Given the description of an element on the screen output the (x, y) to click on. 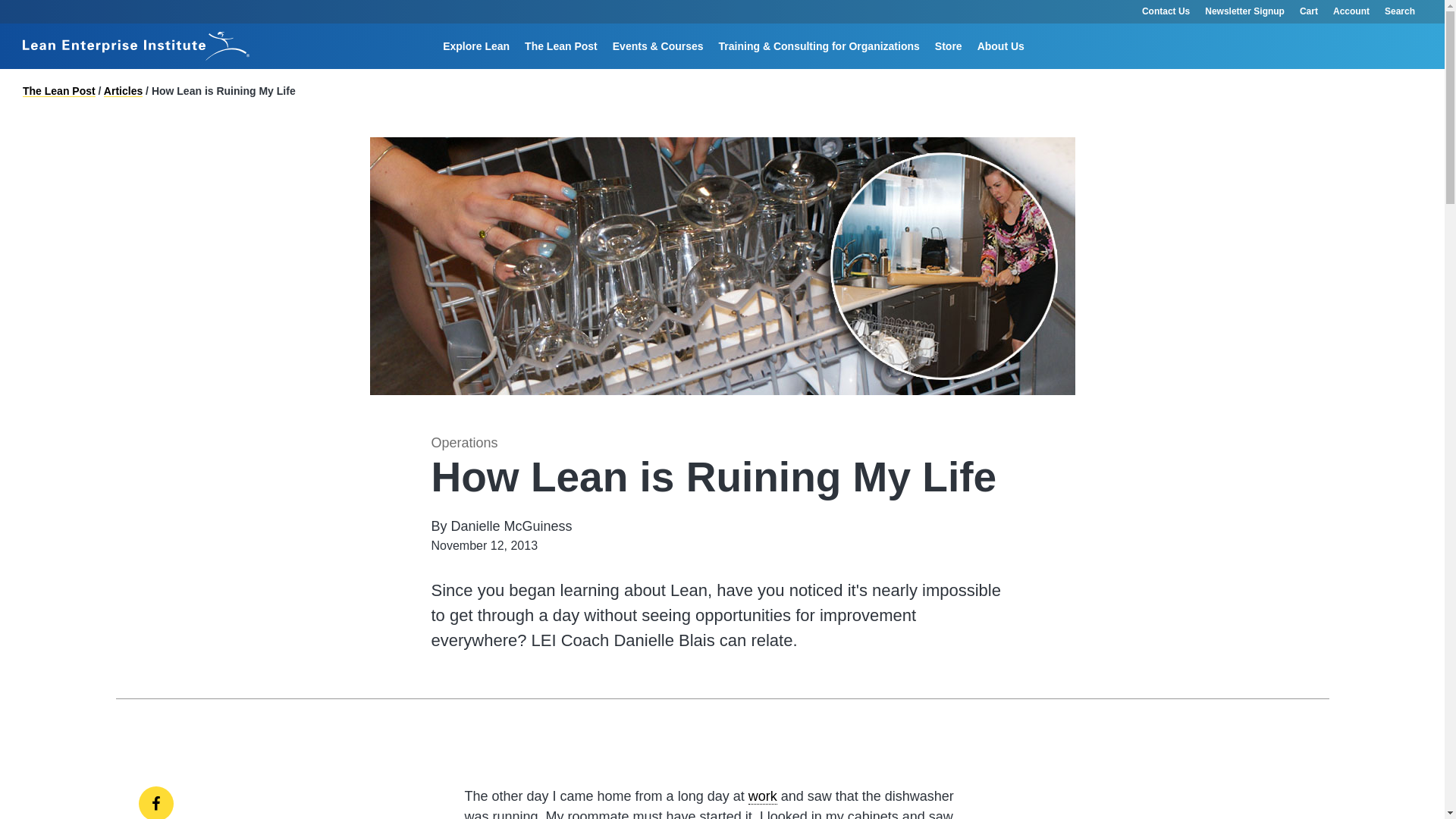
Account (1350, 11)
Explore Lean (475, 45)
The Lean Post (560, 45)
Explore Lean (475, 45)
Cart (1308, 11)
Search (1407, 11)
Search (924, 68)
Contact Us (1165, 11)
The Lean Post (560, 45)
Newsletter Signup (1244, 11)
